Given the description of an element on the screen output the (x, y) to click on. 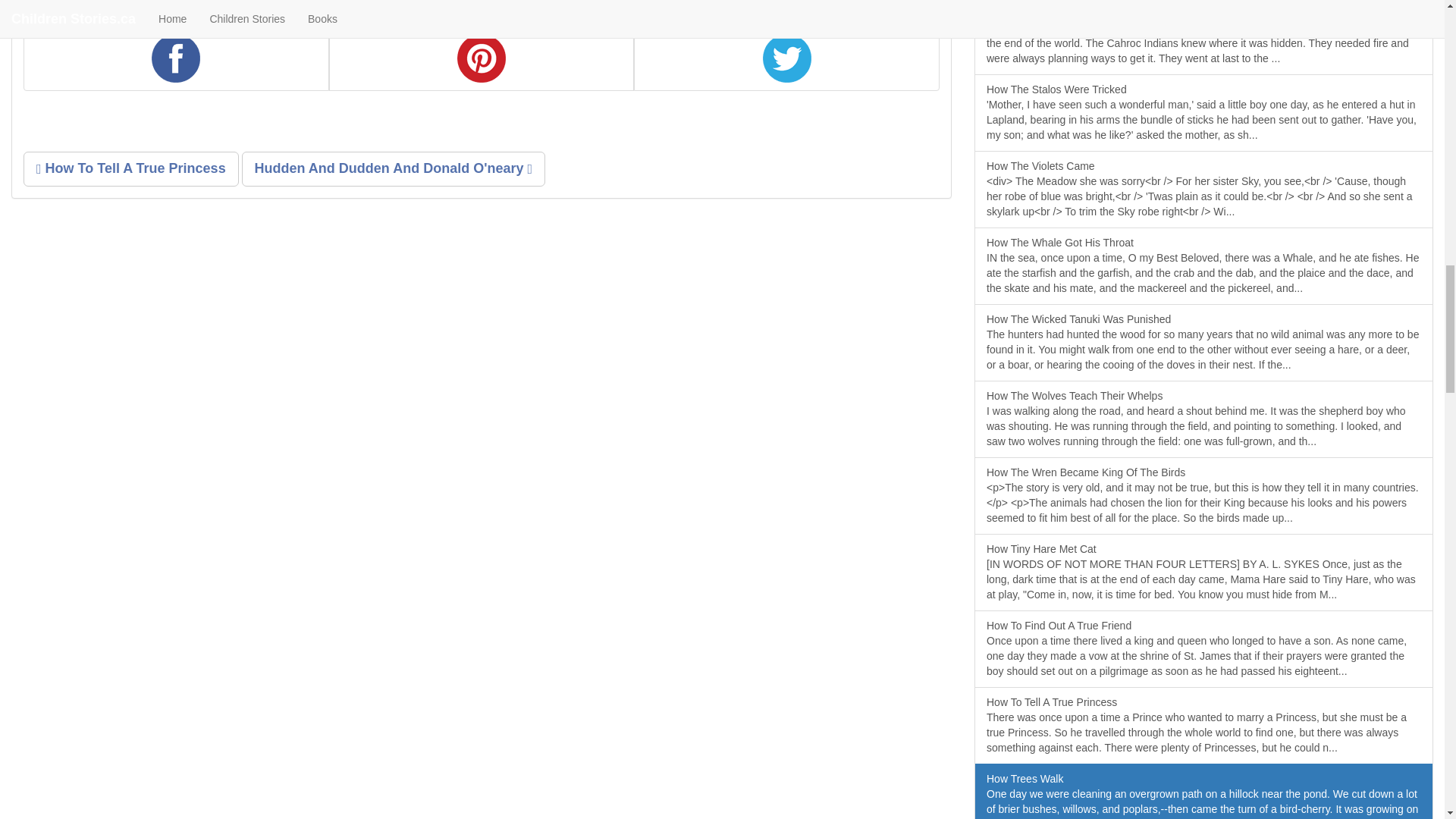
Hudden And Dudden And Donald O'neary (393, 168)
How To Tell A True Princess (130, 168)
